Given the description of an element on the screen output the (x, y) to click on. 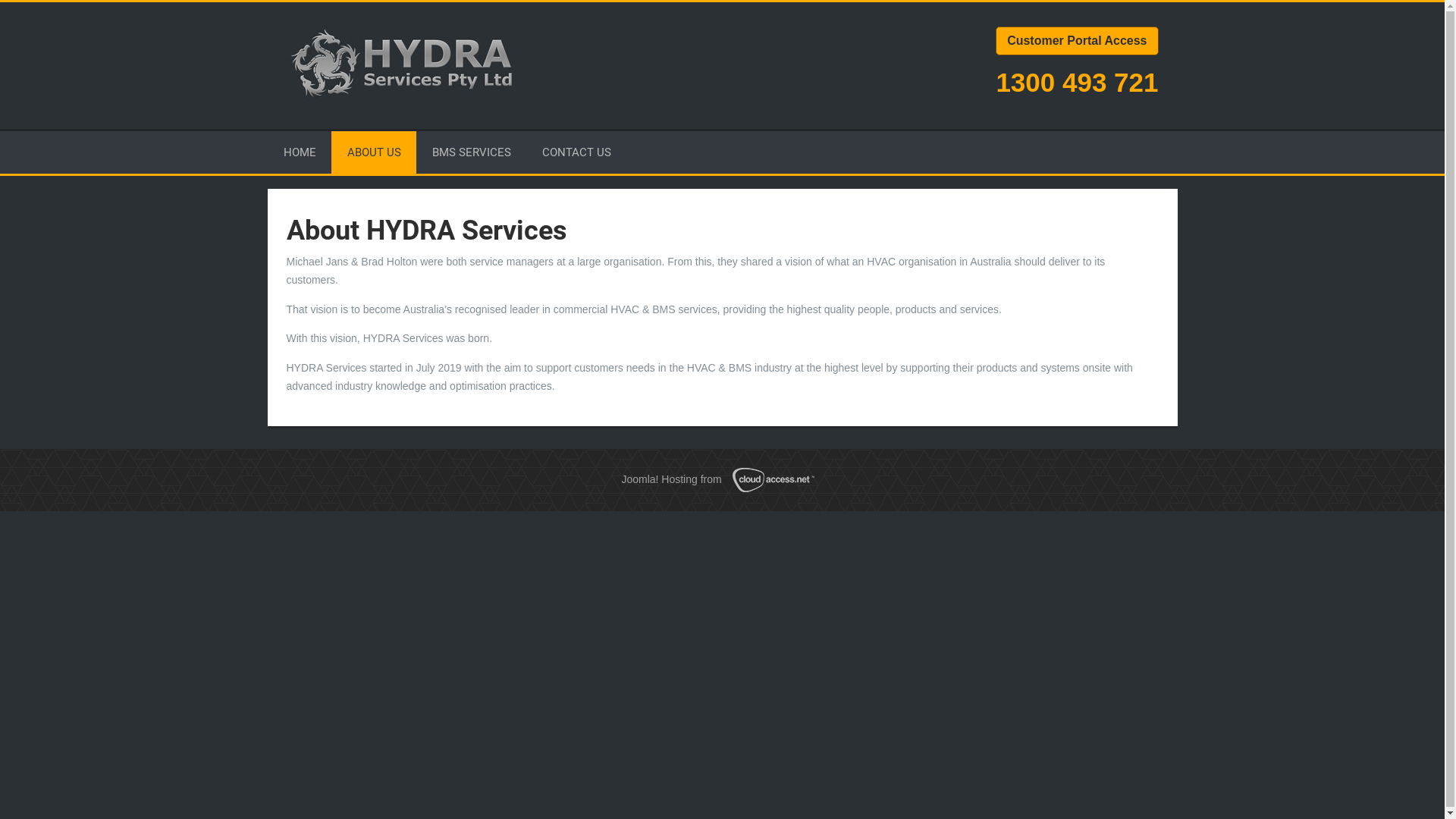
CONTACT US Element type: text (575, 152)
BMS SERVICES Element type: text (471, 152)
ClodAccess.net Joomla Hosting Element type: hover (777, 479)
Customer Portal Access Element type: text (1076, 40)
Customer Portal Access Element type: text (1076, 40)
ABOUT US Element type: text (374, 152)
HOME Element type: text (299, 152)
